Given the description of an element on the screen output the (x, y) to click on. 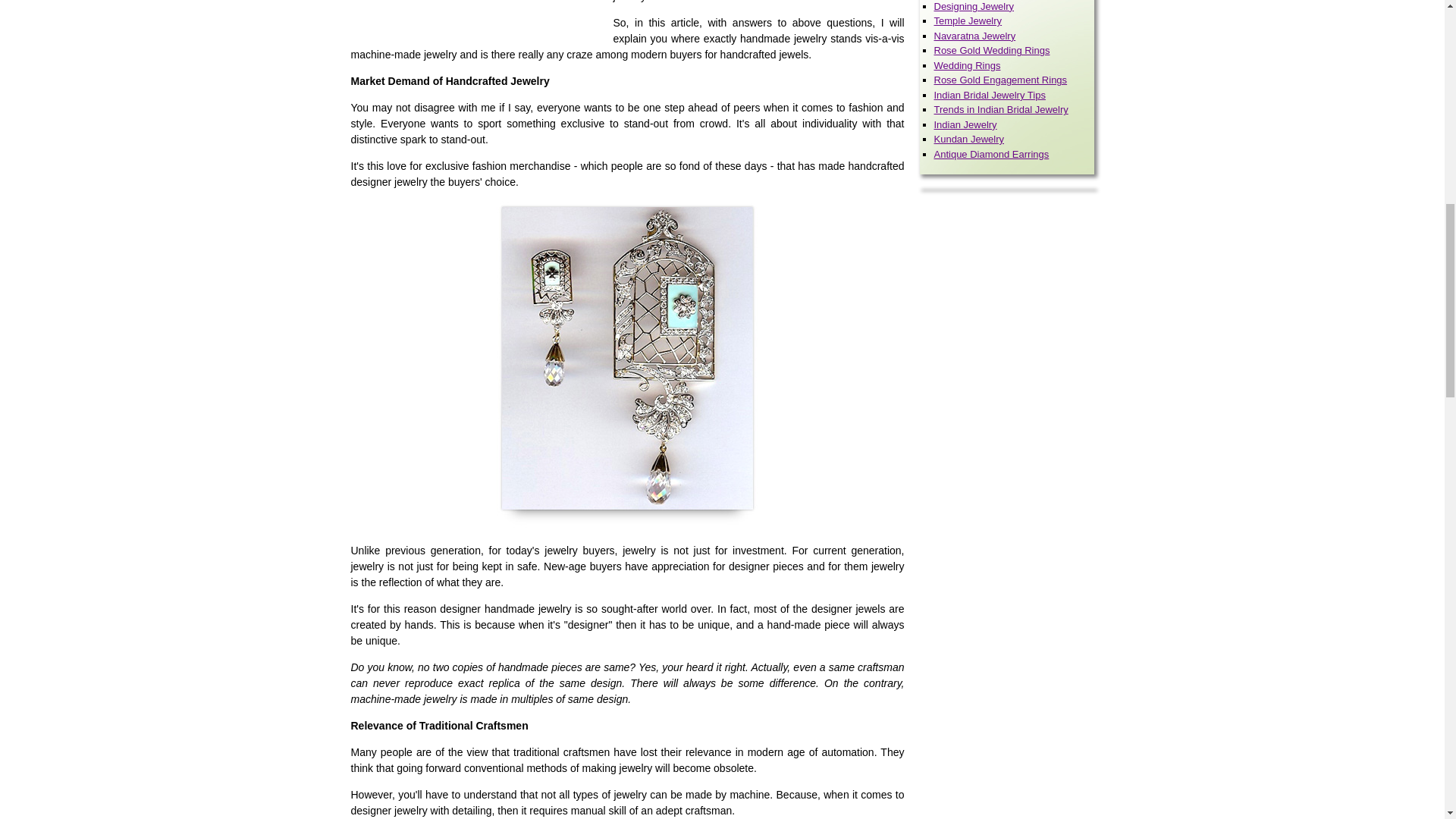
Advertisement (477, 18)
